Given the description of an element on the screen output the (x, y) to click on. 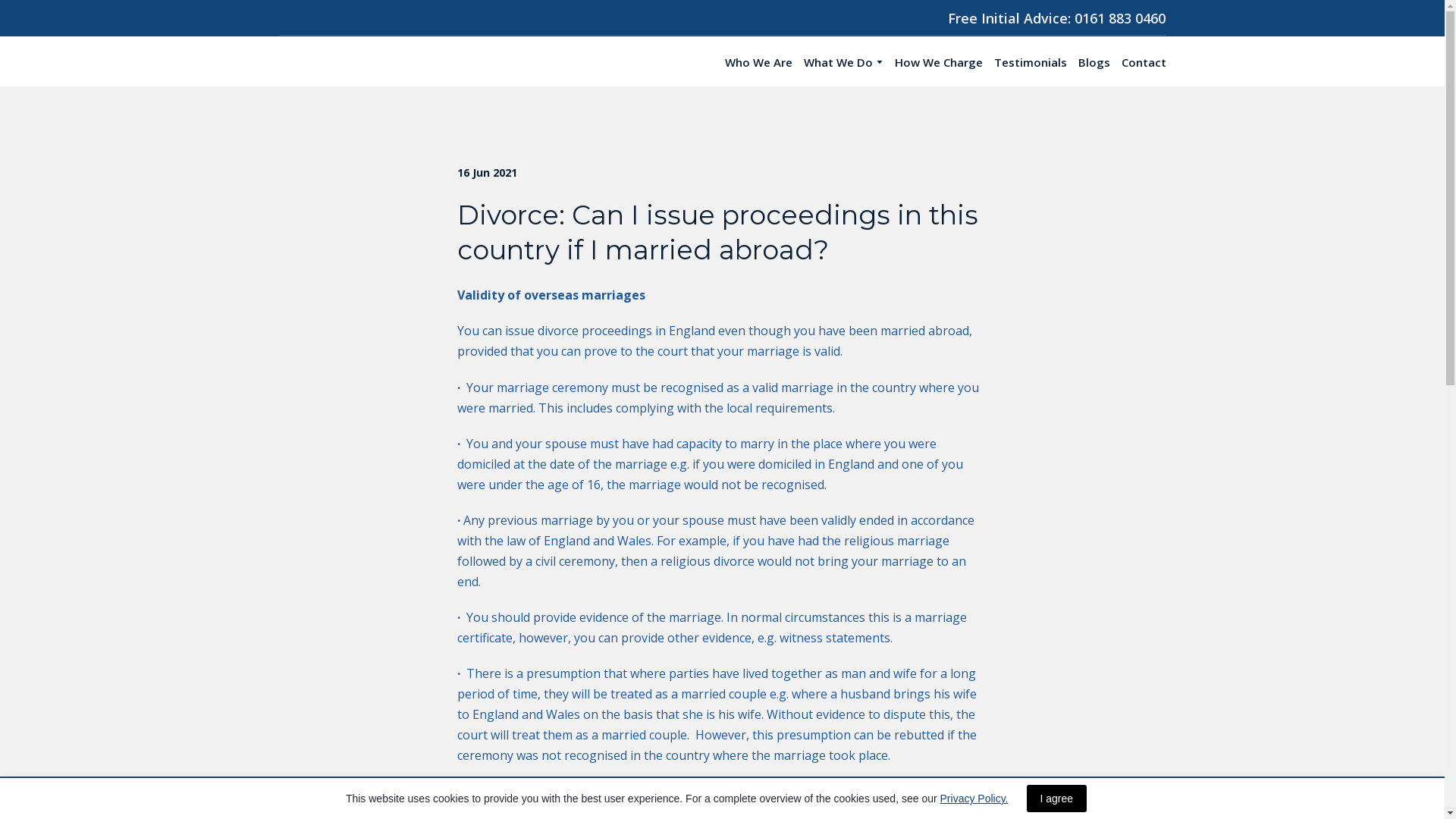
How We Charge (938, 61)
0161 883 0460 (1120, 18)
Who We Are (758, 61)
Blogs (1093, 61)
Testimonials (1028, 61)
Contact (1143, 61)
